Given the description of an element on the screen output the (x, y) to click on. 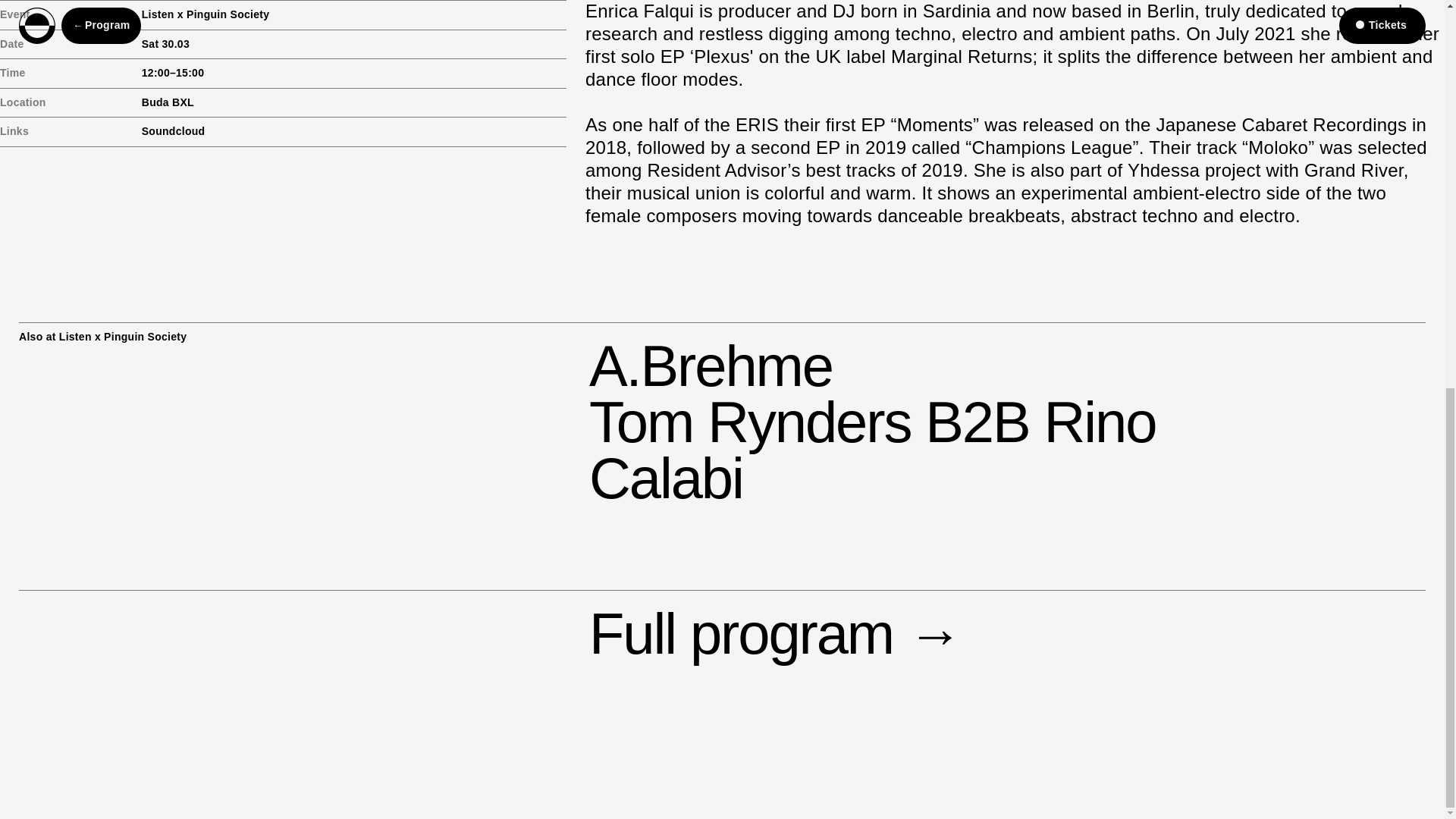
Calabi (665, 477)
Tom Rynders B2B Rino (872, 421)
Buda BXL (167, 101)
A.Brehme (710, 365)
Listen x Pinguin Society (205, 14)
Soundcloud (173, 131)
Full program (767, 633)
